Given the description of an element on the screen output the (x, y) to click on. 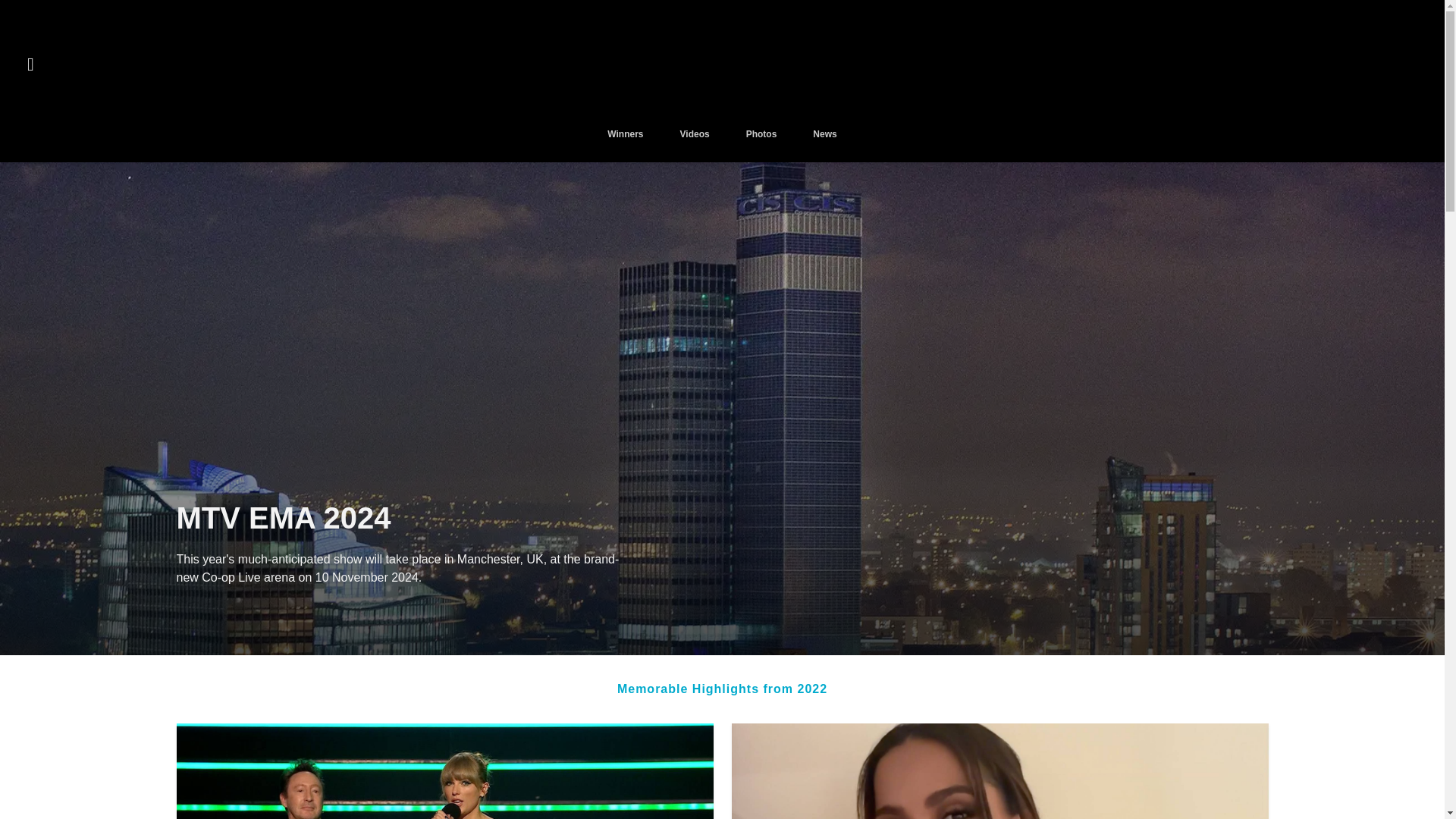
News (824, 145)
Photos (761, 145)
Winners (625, 145)
Videos (695, 145)
